Given the description of an element on the screen output the (x, y) to click on. 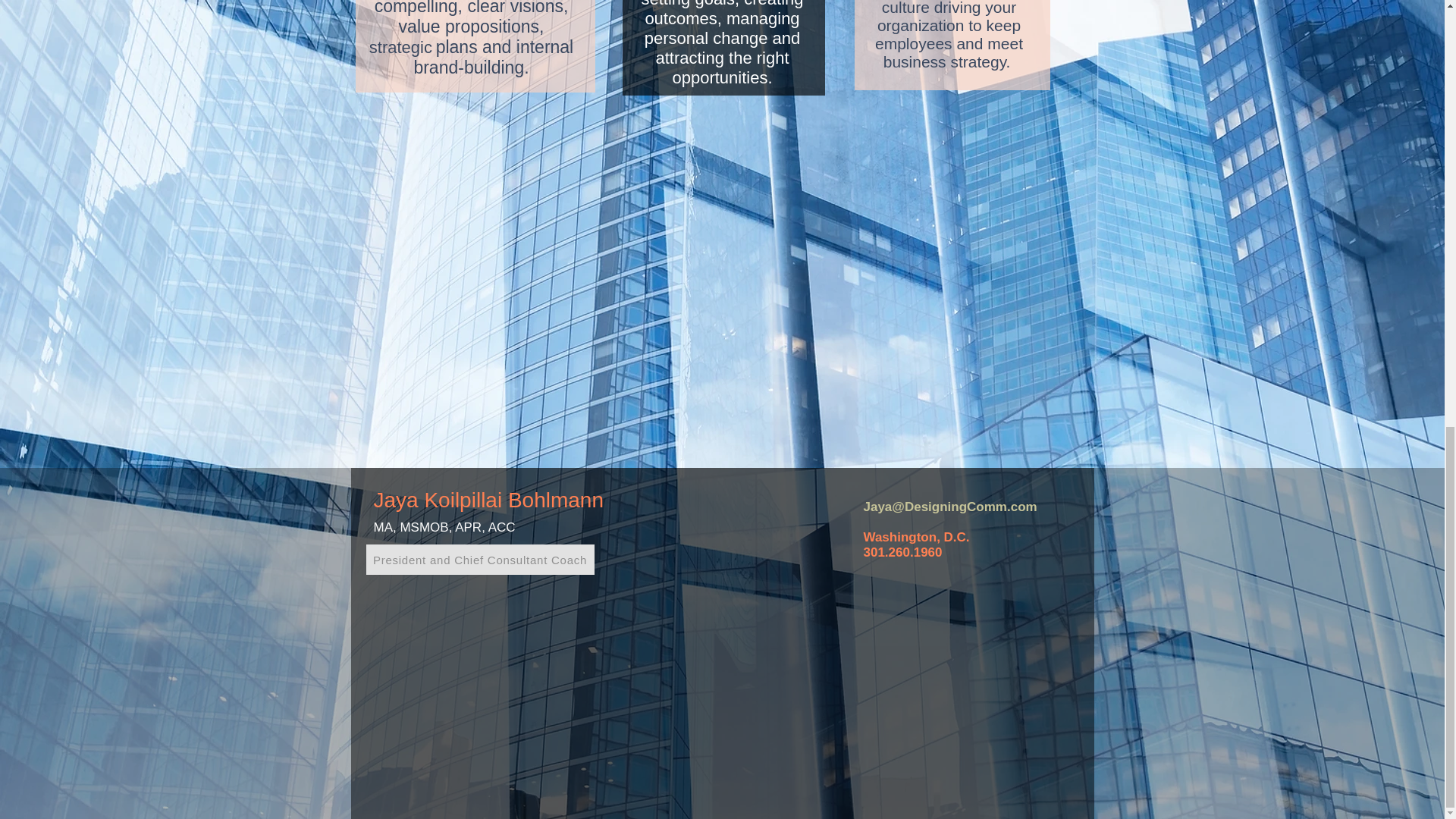
Twitter Follow (891, 587)
President and Chief Consultant Coach (479, 559)
Jaya Koilpillai Bohlmann (488, 499)
